Given the description of an element on the screen output the (x, y) to click on. 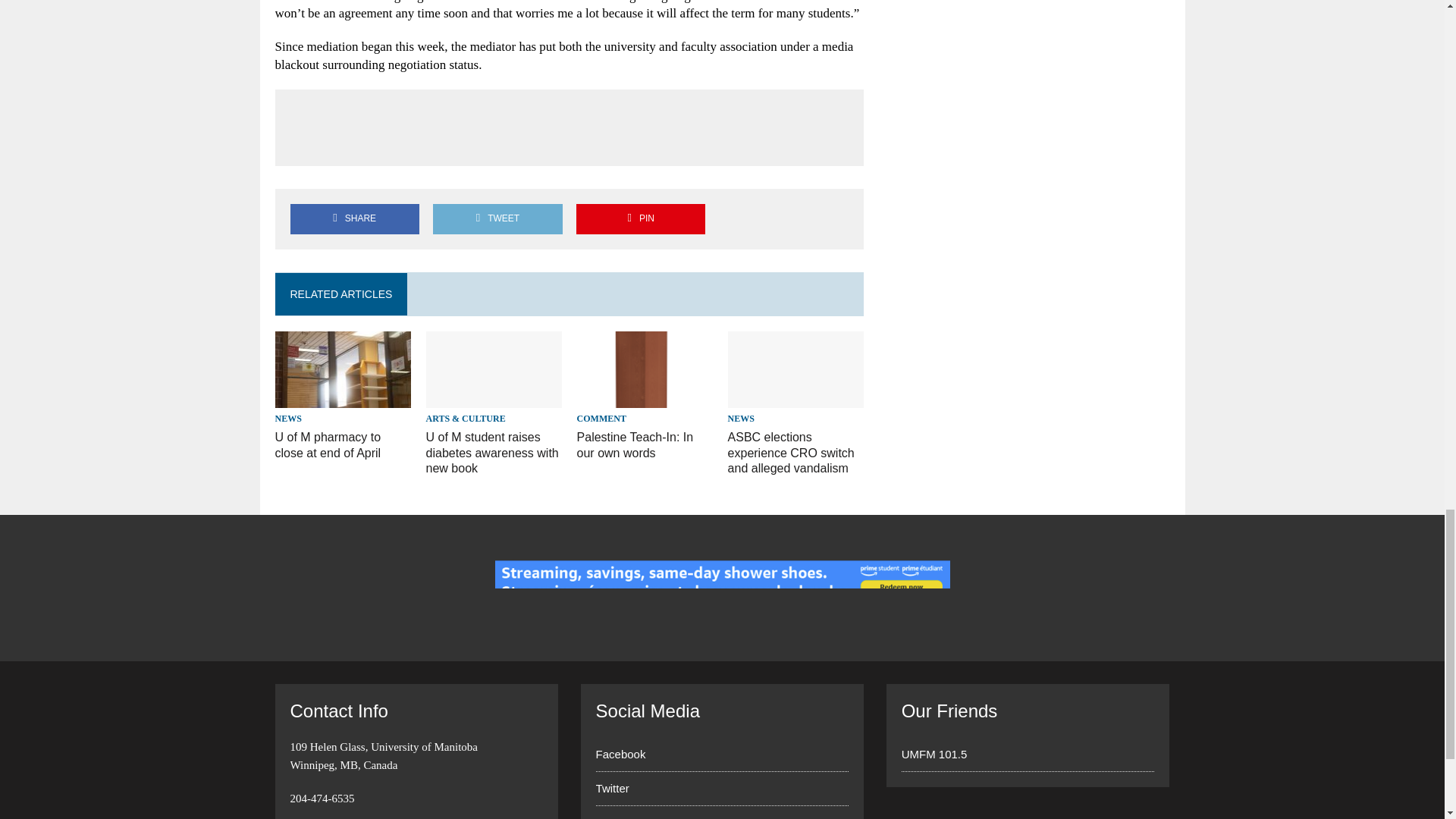
ASBC elections experience  CRO switch and alleged vandalism (791, 452)
Pin This Post (640, 218)
Tweet This Post (497, 218)
U of M pharmacy to close at end of April (342, 397)
Palestine Teach-In: In our own words (644, 397)
U of M student raises diabetes awareness with new book (492, 452)
Palestine Teach-In: In our own words (635, 444)
U of M pharmacy to close at end of April (327, 444)
U of M student raises diabetes awareness with new book (494, 397)
ASBC elections experience  CRO switch and alleged vandalism (796, 397)
